Given the description of an element on the screen output the (x, y) to click on. 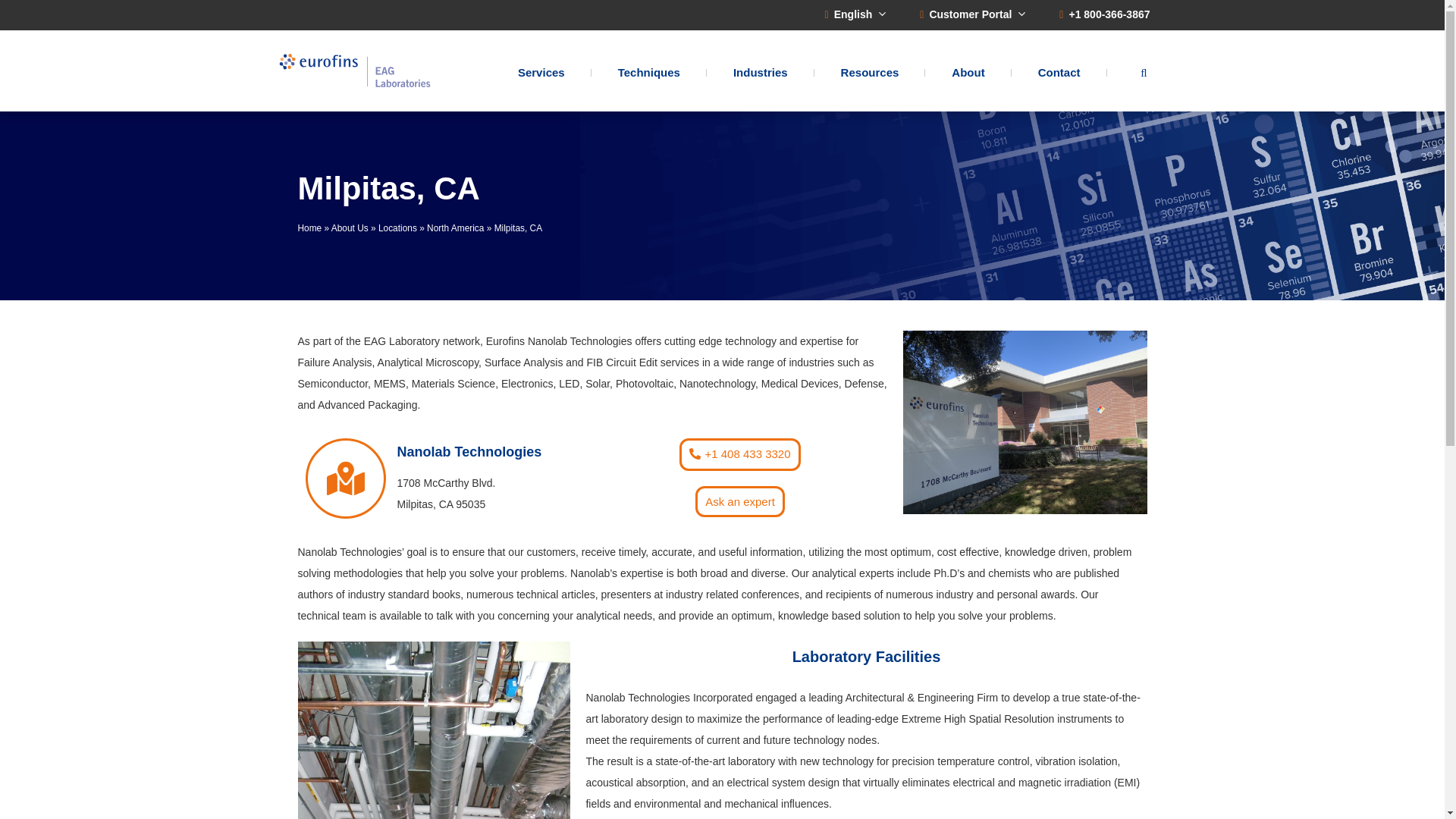
English (856, 14)
Services (541, 72)
EAG Laboratories (354, 70)
Customer Portal (973, 14)
